Given the description of an element on the screen output the (x, y) to click on. 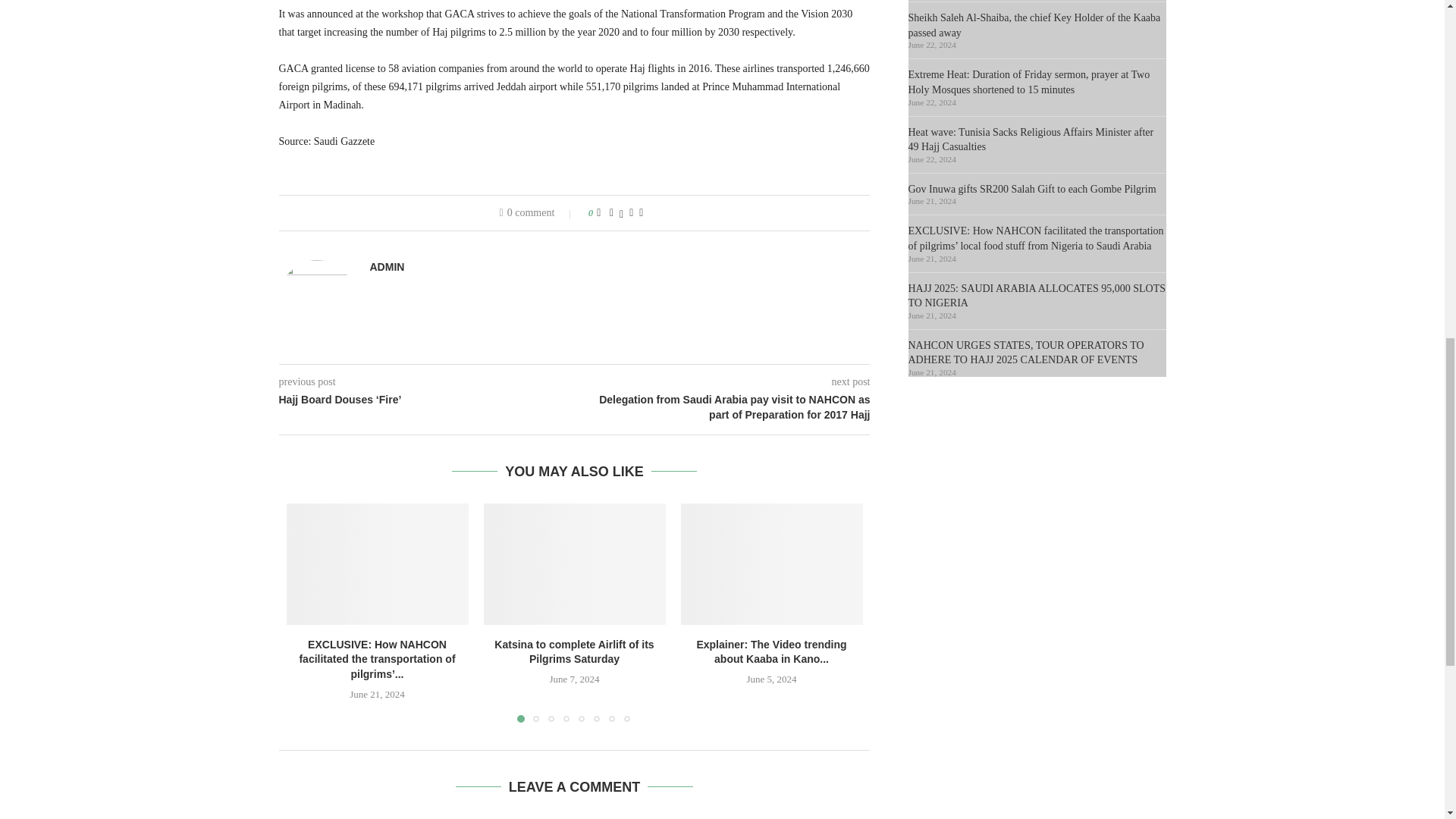
Like (597, 213)
Author admin (386, 267)
Katsina to complete Airlift of its Pilgrims Saturday (574, 563)
